Given the description of an element on the screen output the (x, y) to click on. 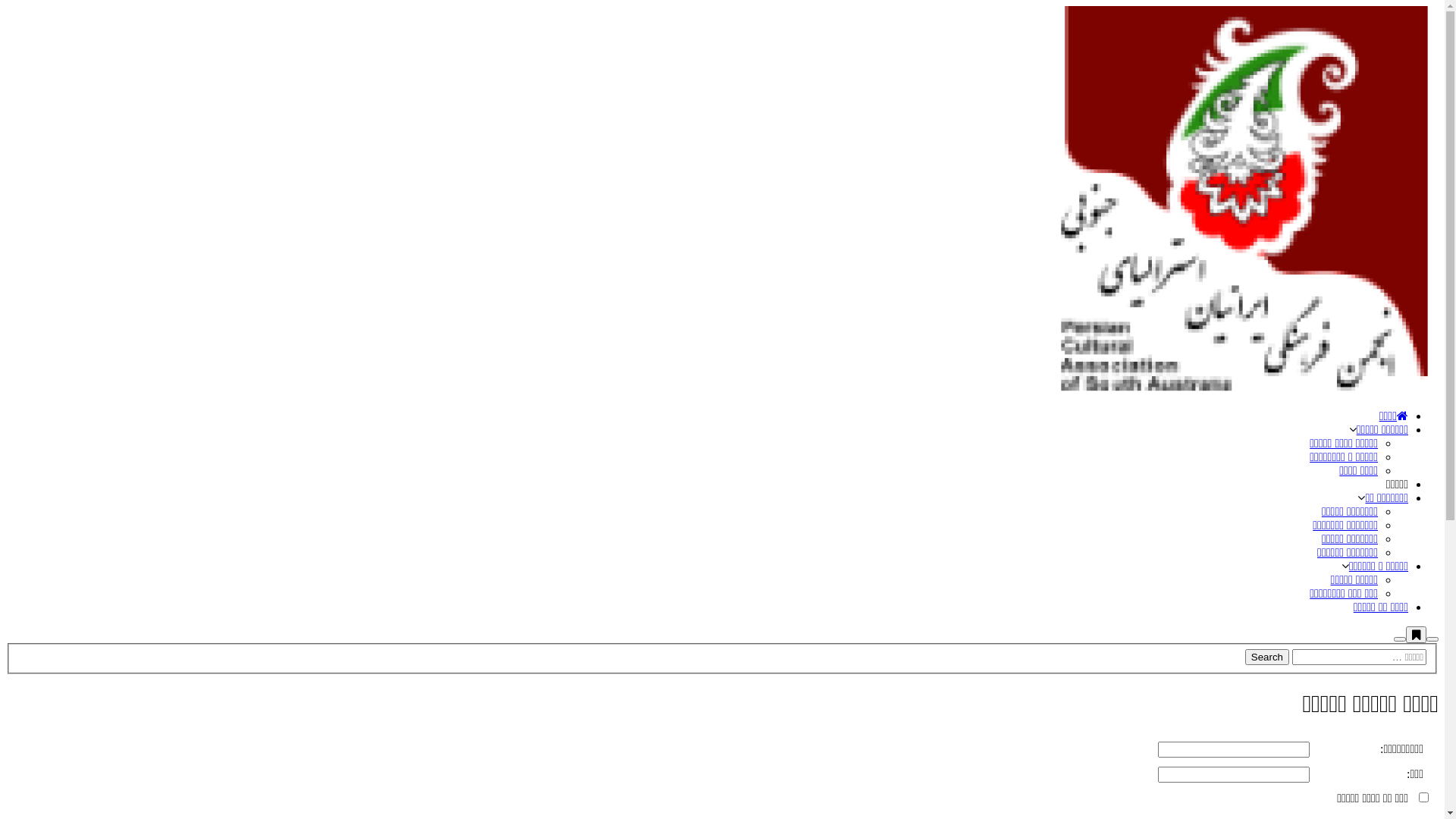
Search Element type: hover (1267, 657)
Search Element type: text (1267, 657)
Search Element type: text (1432, 639)
Persian Cultural Association of South Australiaa Element type: hover (1244, 389)
